Given the description of an element on the screen output the (x, y) to click on. 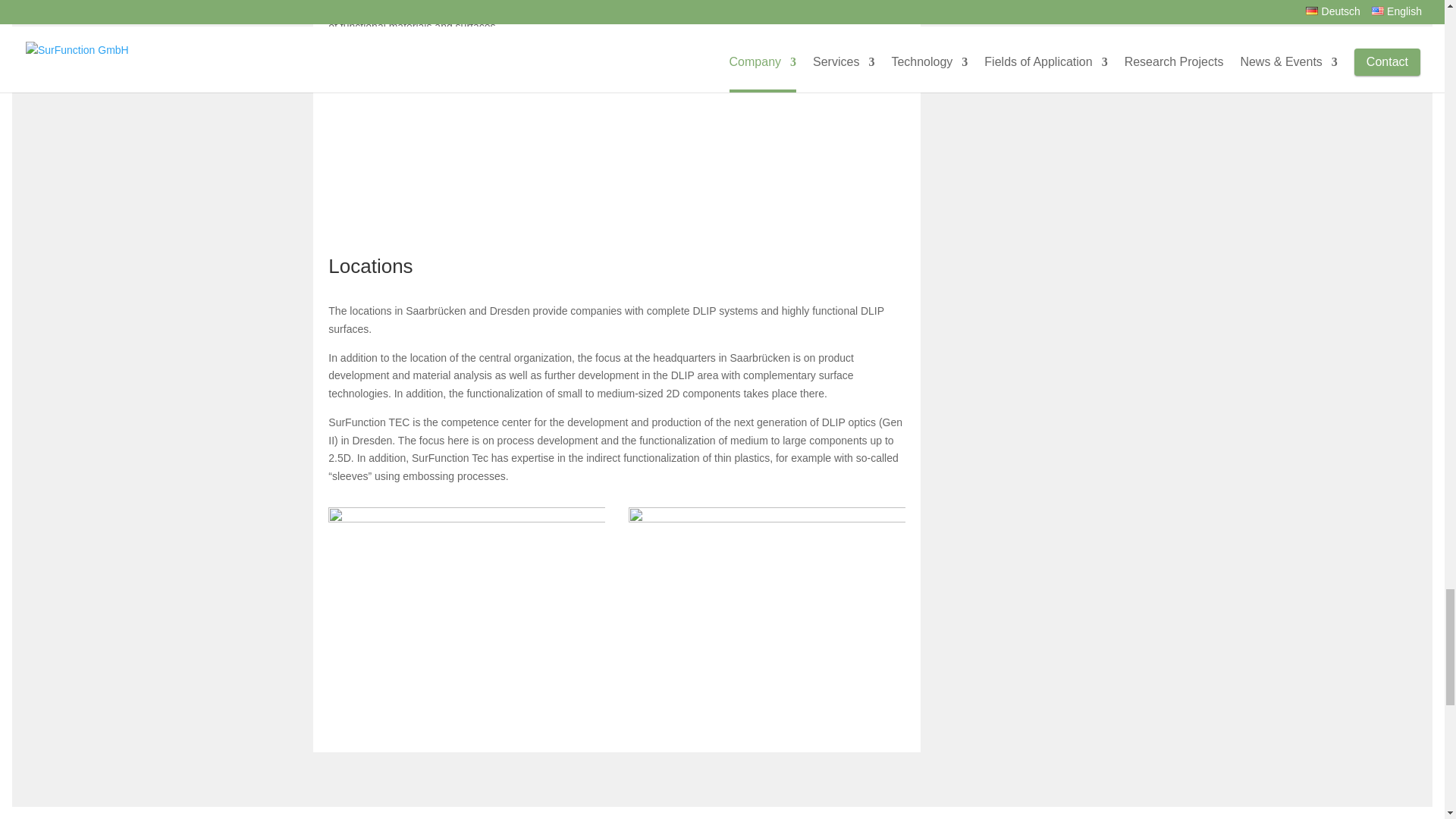
logo-steinbeis (467, 126)
logo-MECS (766, 126)
